Given the description of an element on the screen output the (x, y) to click on. 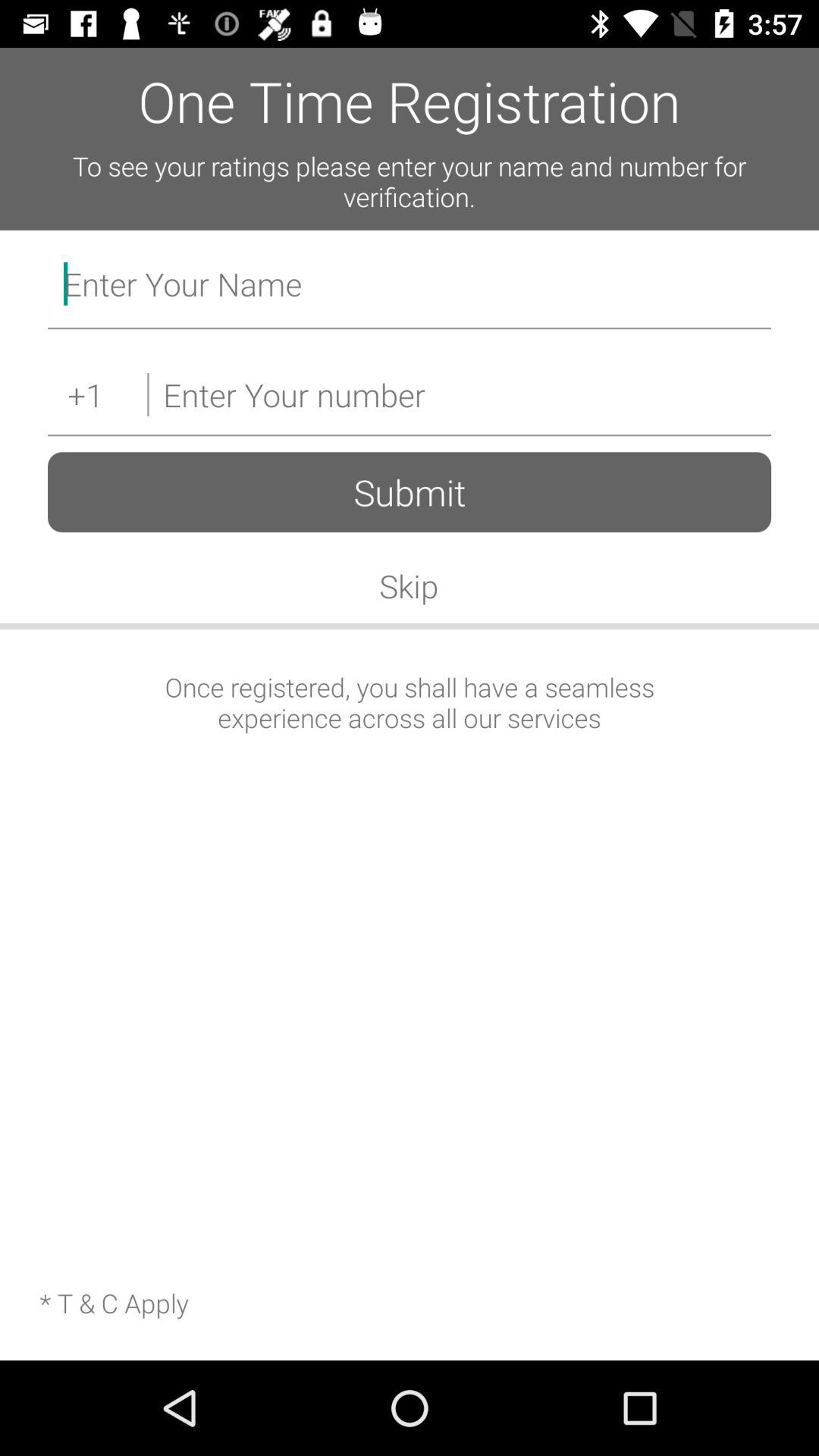
tap the item above the submit (459, 394)
